Given the description of an element on the screen output the (x, y) to click on. 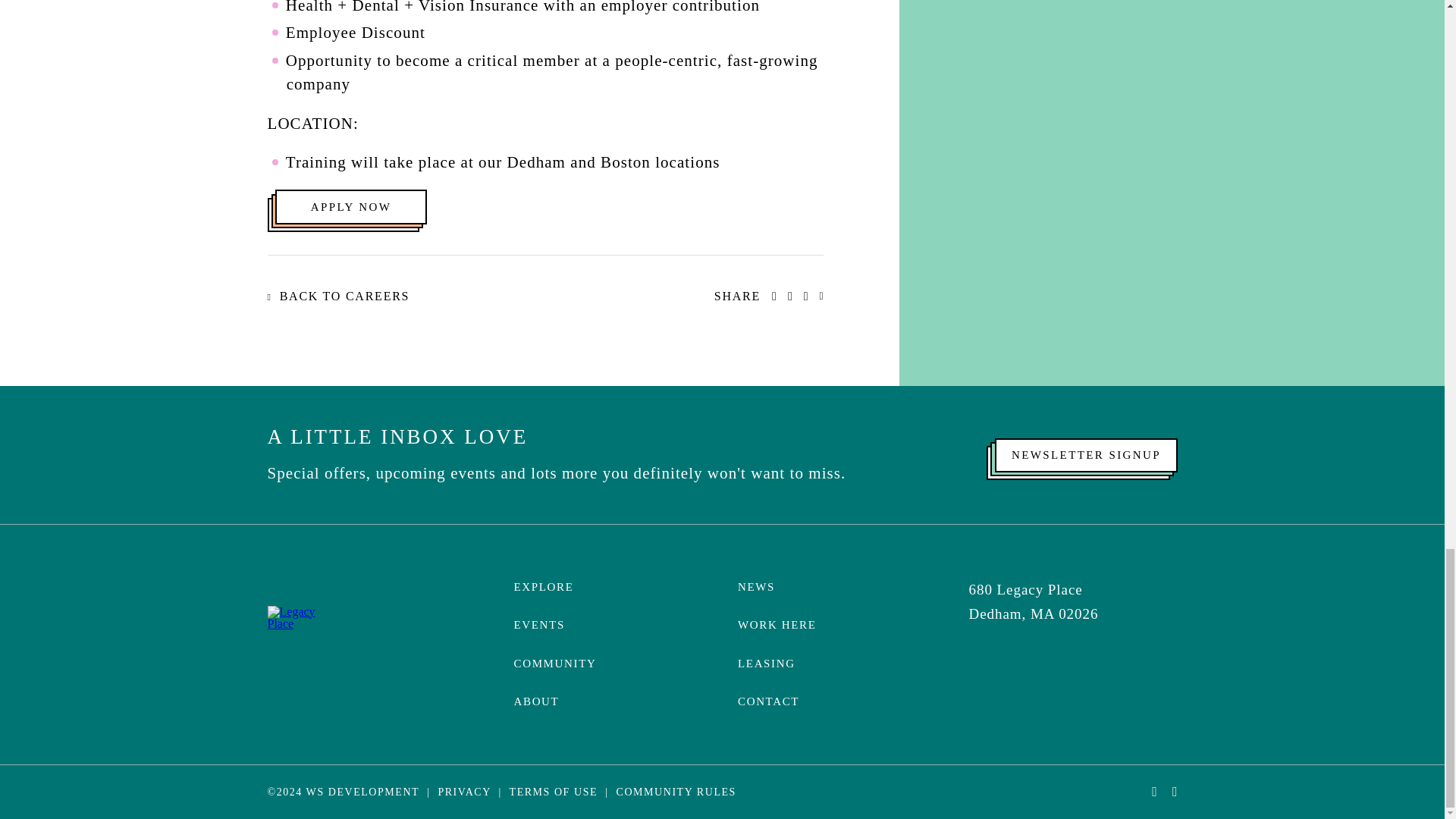
TERMS OF USE (553, 791)
PRIVACY (464, 791)
COMMUNITY (554, 663)
EXPLORE (543, 586)
NEWSLETTER SIGNUP (1085, 455)
ABOUT (536, 701)
CONTACT (768, 701)
BACK TO CAREERS (337, 296)
EVENTS (538, 624)
COMMUNITY RULES (675, 791)
